Given the description of an element on the screen output the (x, y) to click on. 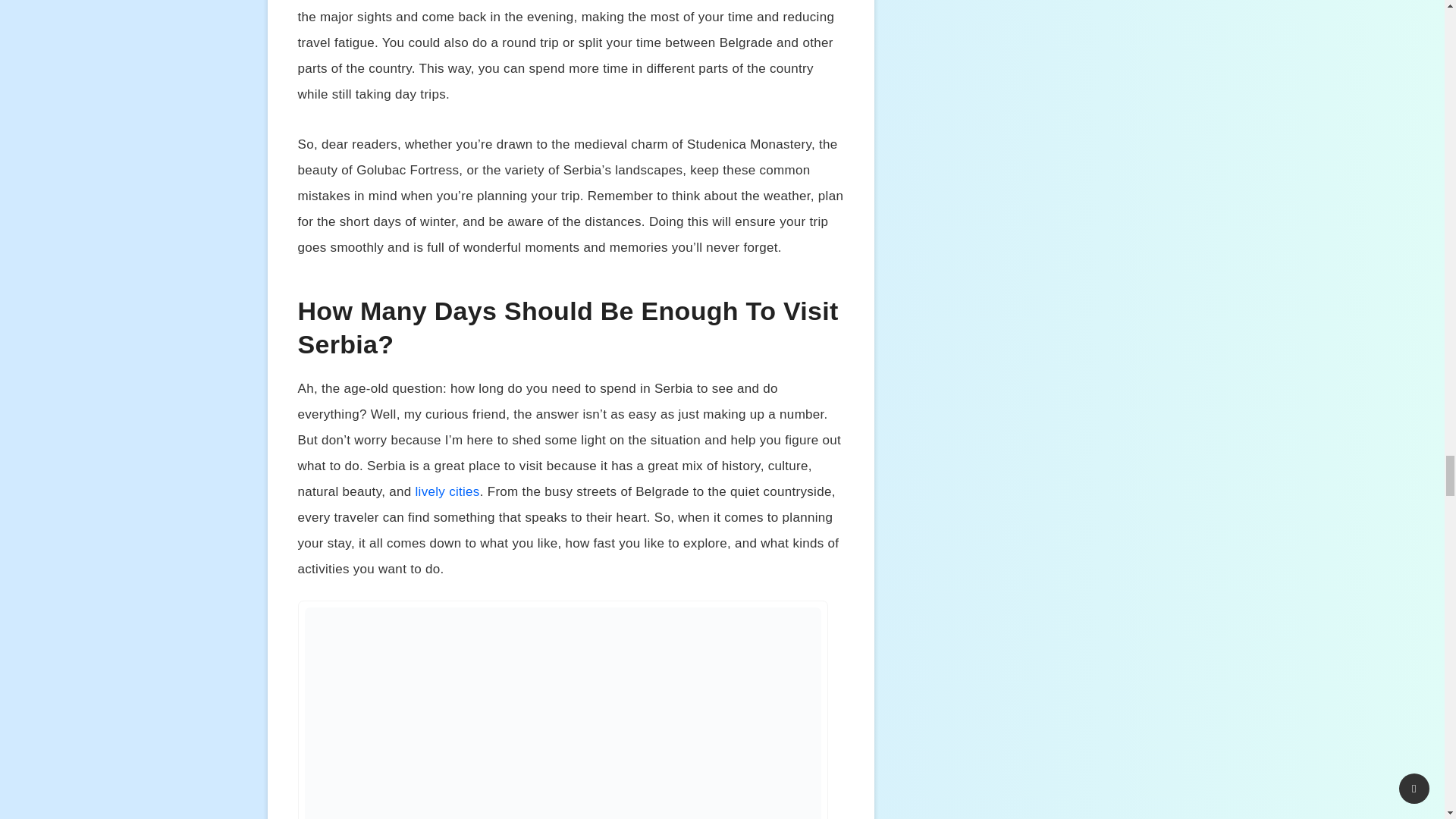
Sicevacka klisura, Serbia (562, 713)
